Given the description of an element on the screen output the (x, y) to click on. 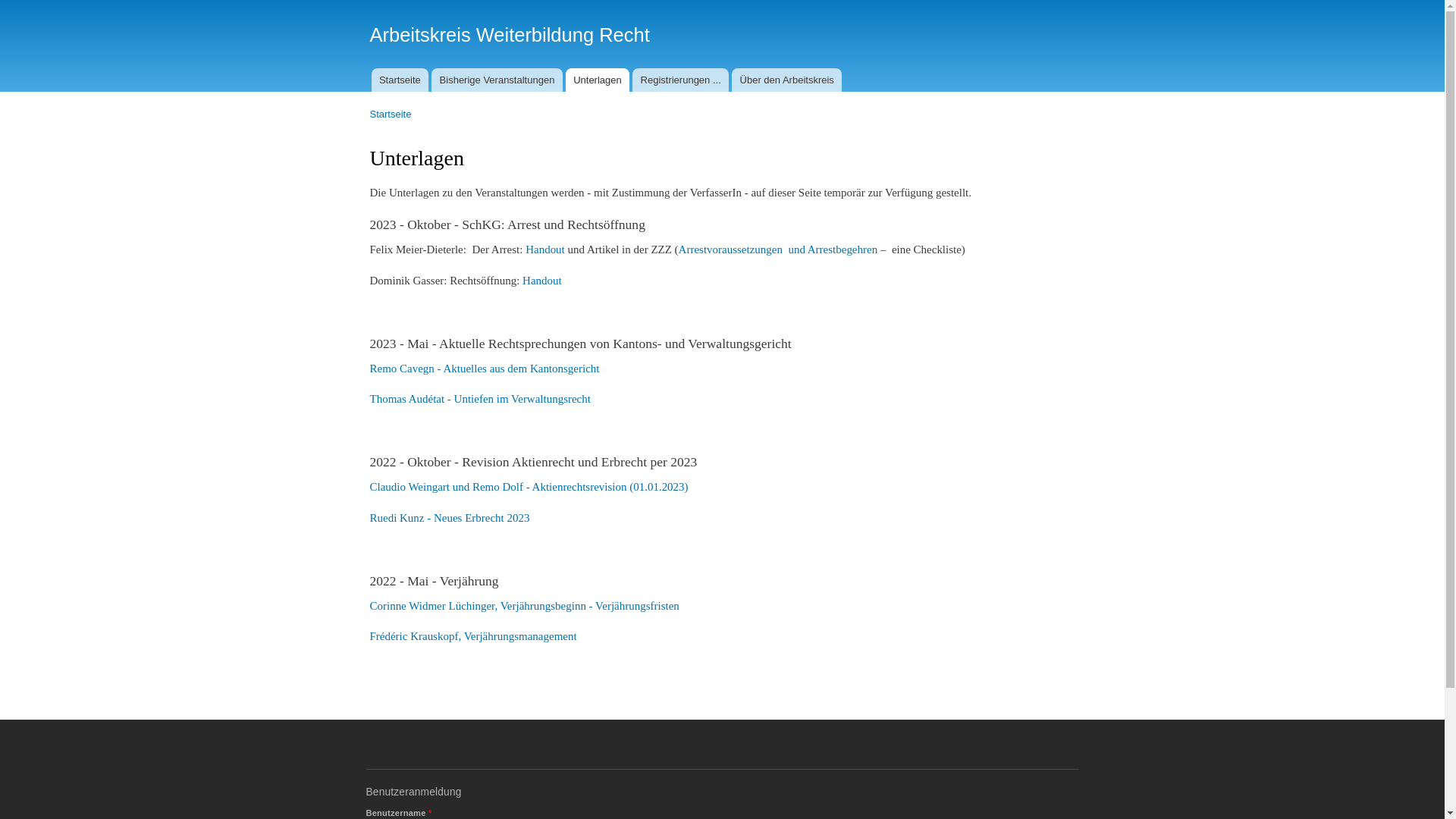
Arrestvoraussetzungen  und Arrestbegehren Element type: text (778, 249)
Ruedi Kunz - Neues Erbrecht 2023 Element type: text (450, 517)
Startseite Element type: text (400, 79)
Handout Element type: text (546, 249)
Unterlagen Element type: text (597, 79)
Handout Element type: text (541, 280)
Registrierungen ... Element type: text (680, 79)
Arbeitskreis Weiterbildung Recht Element type: text (509, 34)
Bisherige Veranstaltungen Element type: text (496, 79)
Direkt zum Inhalt Element type: text (686, 1)
Remo Cavegn - Aktuelles aus dem Kantonsgericht Element type: text (484, 368)
Startseite Element type: text (390, 113)
